Given the description of an element on the screen output the (x, y) to click on. 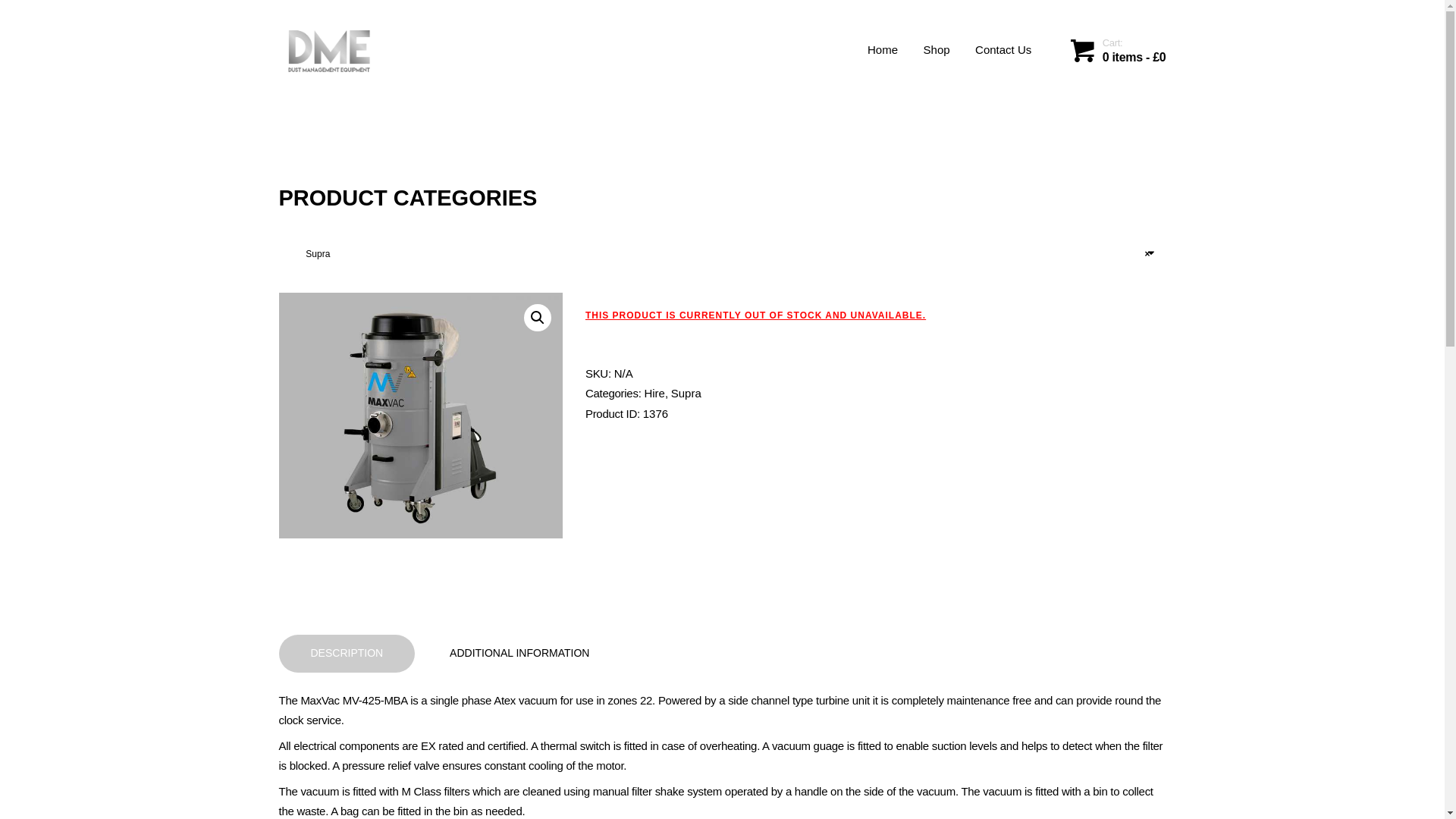
Shop (936, 50)
Hire (654, 392)
MAXVAC-425-MBA-R (420, 415)
Home (882, 50)
ADDITIONAL INFORMATION (519, 653)
Supra (686, 392)
DESCRIPTION (346, 653)
Contact Us (1002, 50)
